Given the description of an element on the screen output the (x, y) to click on. 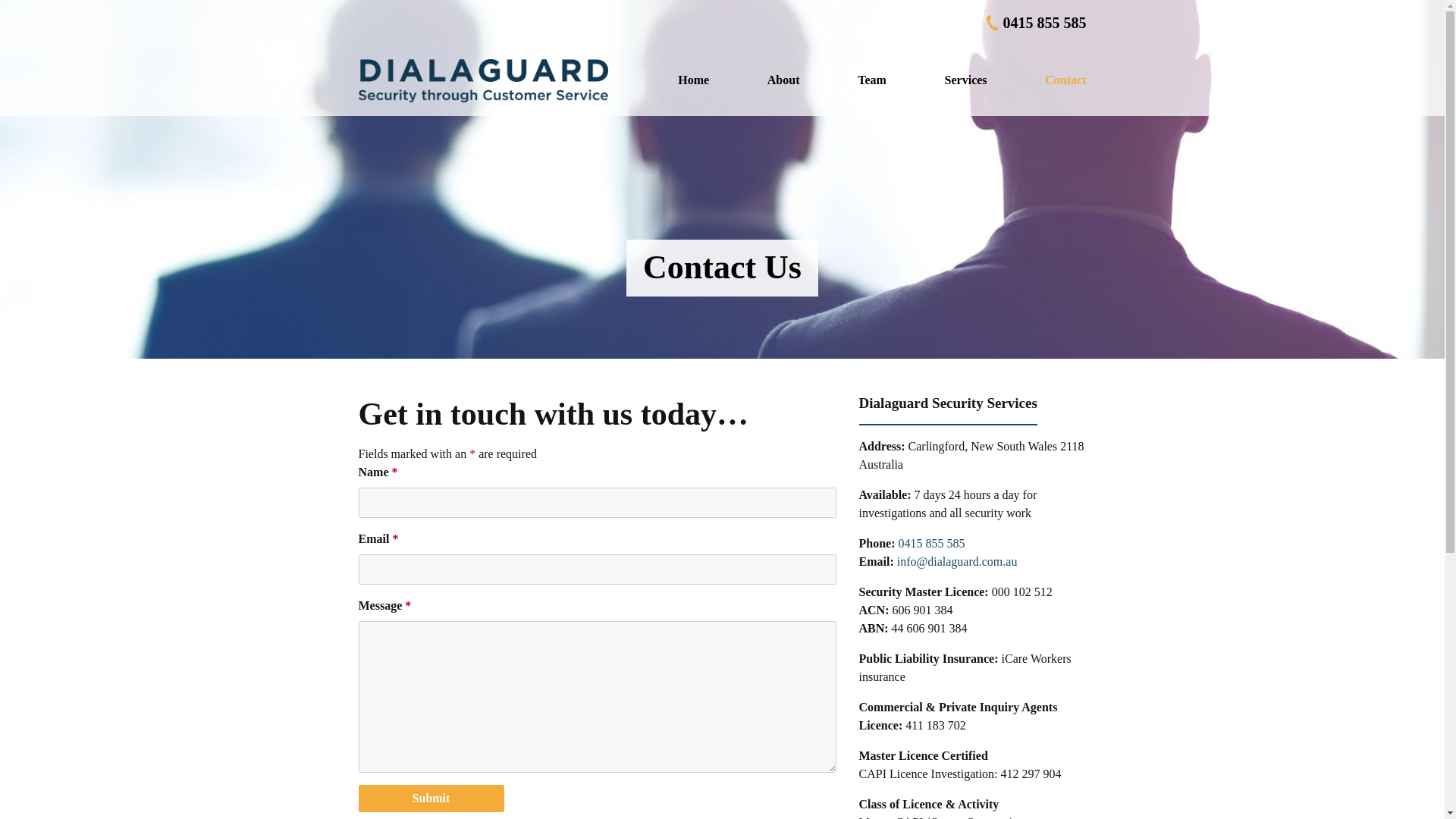
Home Element type: text (693, 80)
Services Element type: text (965, 80)
0415 855 585 Element type: text (930, 542)
Contact Element type: text (1064, 80)
Team Element type: text (871, 80)
Submit Element type: text (430, 798)
0415 855 585 Element type: text (1033, 22)
About Element type: text (783, 80)
info@dialaguard.com.au Element type: text (957, 561)
